Given the description of an element on the screen output the (x, y) to click on. 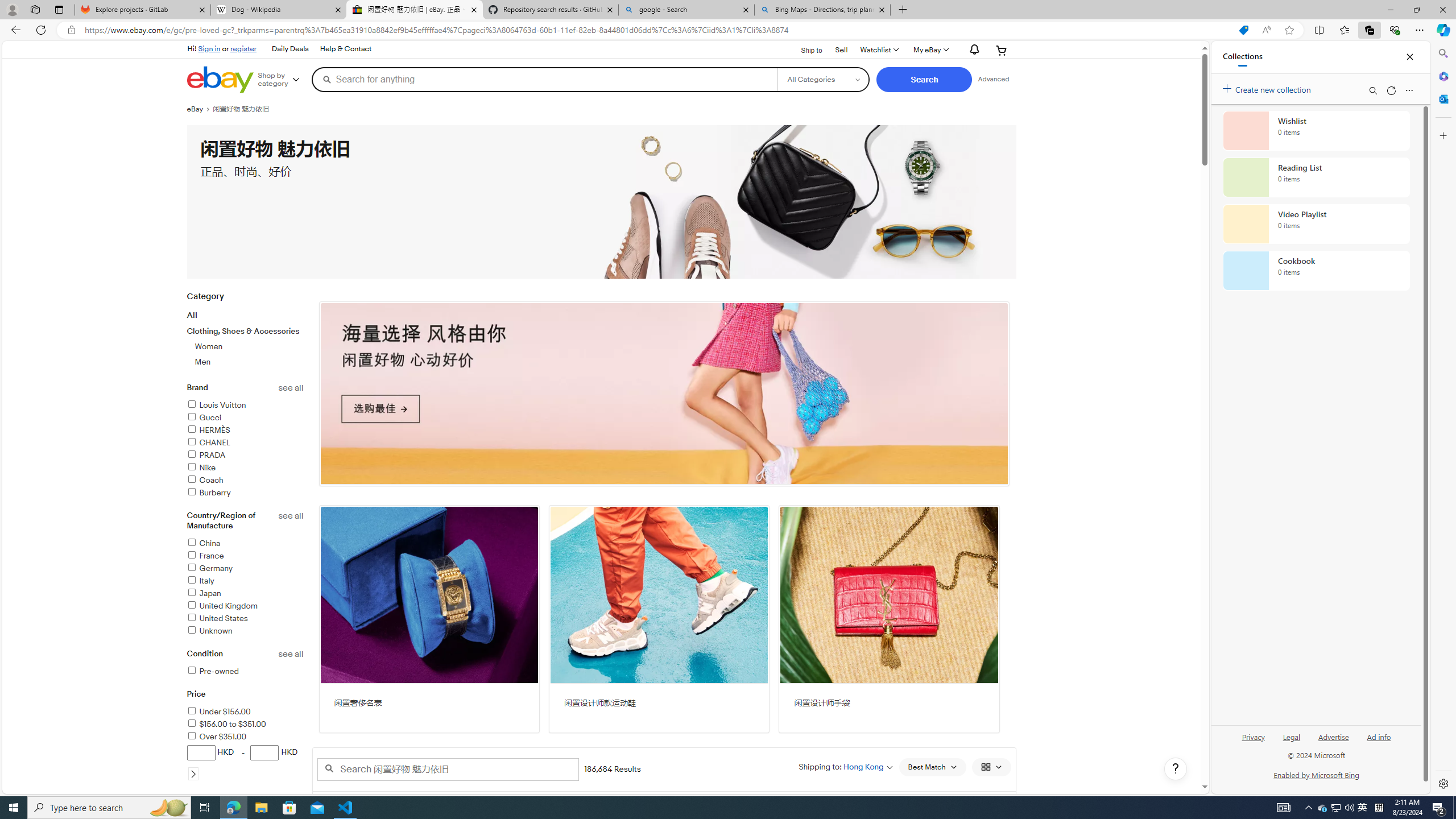
Louis Vuitton (245, 405)
Men (249, 361)
Under $156.00 (245, 711)
See all buying format refinements (291, 798)
register (243, 48)
Shop by category (282, 79)
CHANEL (245, 443)
Help, opens dialogs (1175, 768)
